Given the description of an element on the screen output the (x, y) to click on. 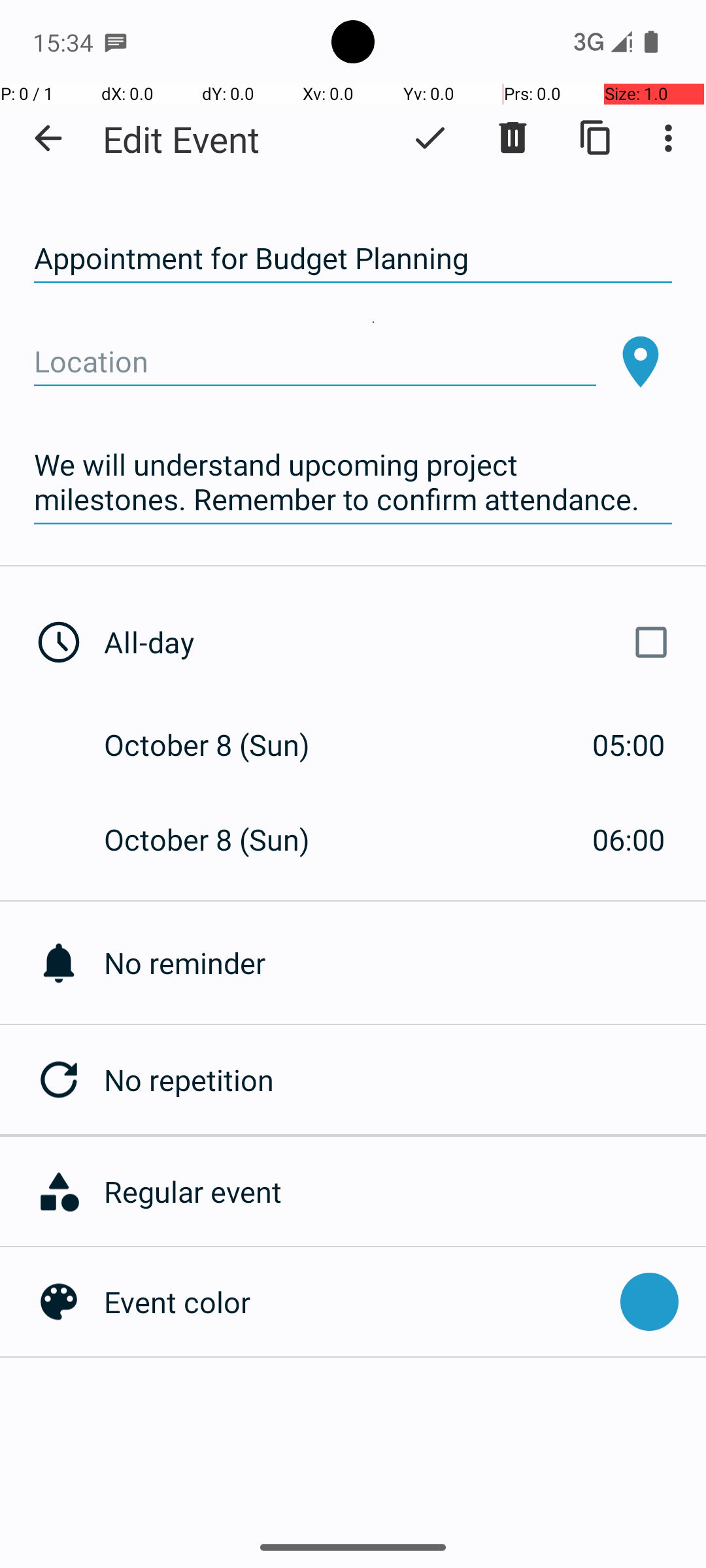
Edit Event Element type: android.widget.TextView (181, 138)
Duplicate event Element type: android.widget.Button (595, 137)
Appointment for Budget Planning Element type: android.widget.EditText (352, 258)
Location Element type: android.widget.EditText (314, 361)
We will understand upcoming project milestones. Remember to confirm attendance. Element type: android.widget.EditText (352, 482)
October 8 (Sun) Element type: android.widget.TextView (220, 744)
05:00 Element type: android.widget.TextView (628, 744)
06:00 Element type: android.widget.TextView (628, 838)
No reminder Element type: android.widget.TextView (404, 962)
No repetition Element type: android.widget.TextView (404, 1079)
All-day Element type: android.widget.CheckBox (390, 642)
Regular event Element type: android.widget.TextView (397, 1191)
Event color Element type: android.widget.TextView (354, 1301)
